Given the description of an element on the screen output the (x, y) to click on. 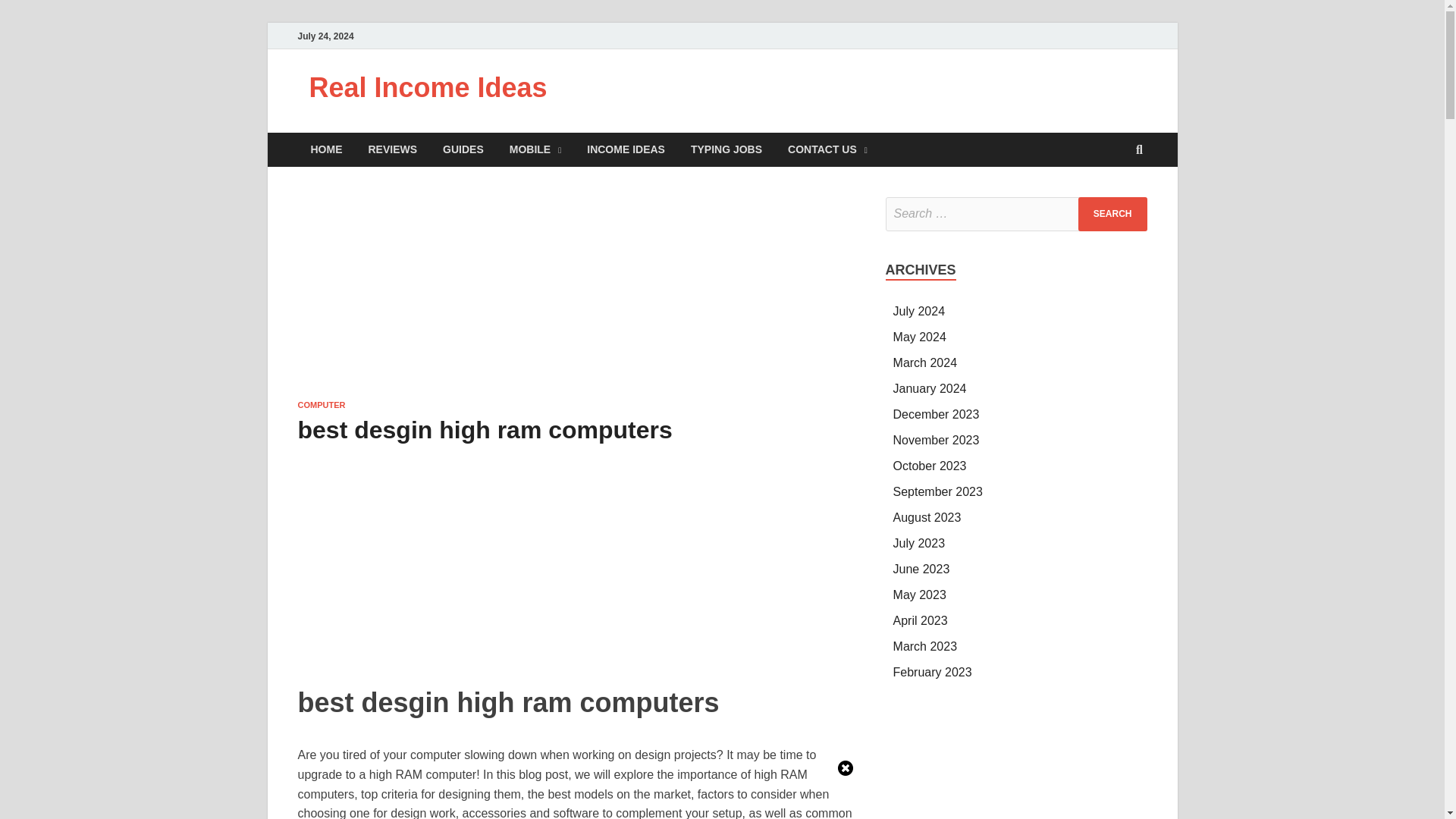
Search (1112, 213)
July 2024 (918, 310)
Search (1112, 213)
MOBILE (534, 149)
INCOME IDEAS (625, 149)
HOME (326, 149)
TYPING JOBS (726, 149)
COMPUTER (321, 404)
Search (1112, 213)
REVIEWS (392, 149)
Real Income Ideas (427, 87)
Advertisement (1015, 767)
GUIDES (462, 149)
May 2024 (919, 336)
CONTACT US (827, 149)
